Given the description of an element on the screen output the (x, y) to click on. 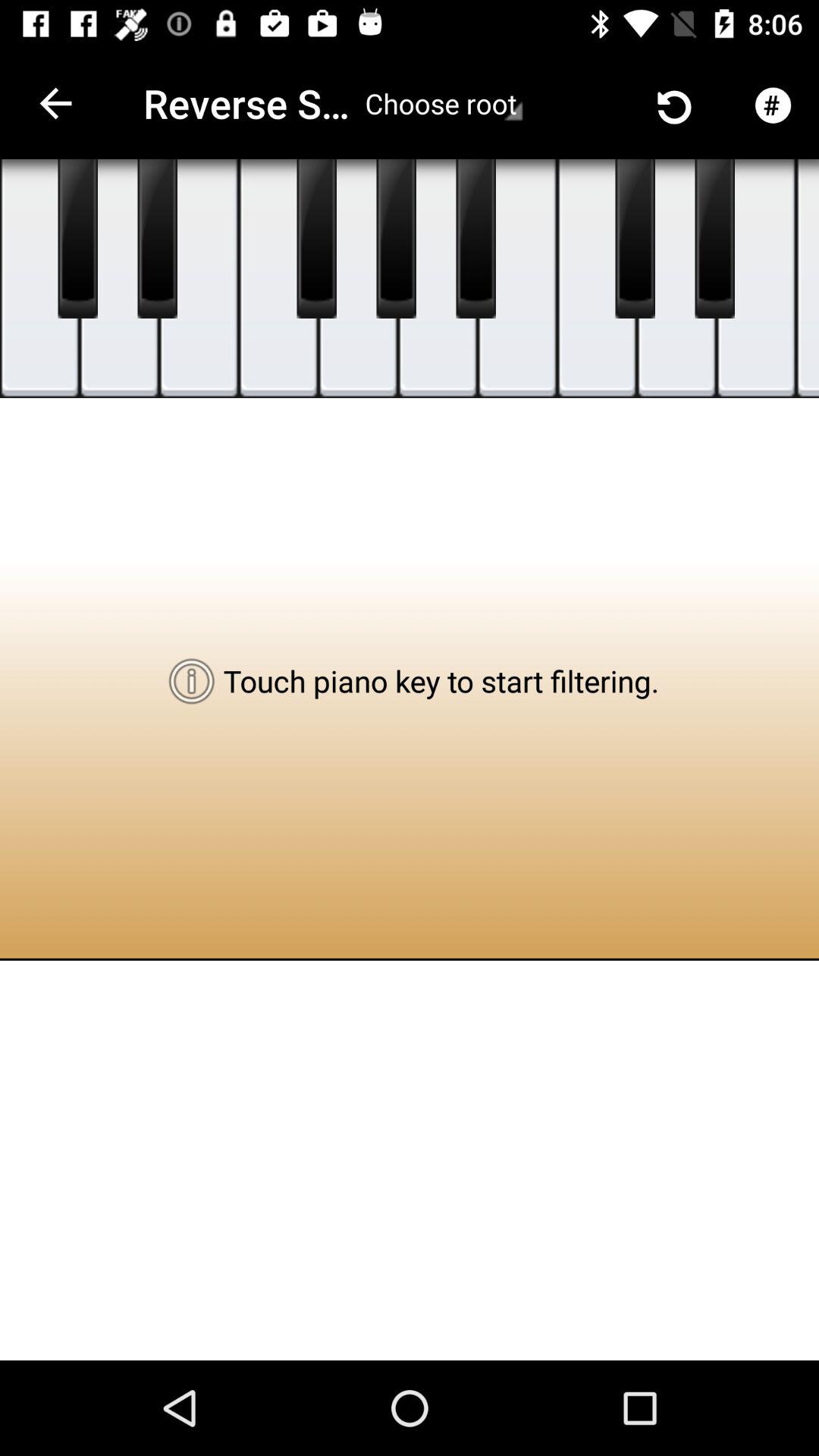
start filtering (597, 278)
